Given the description of an element on the screen output the (x, y) to click on. 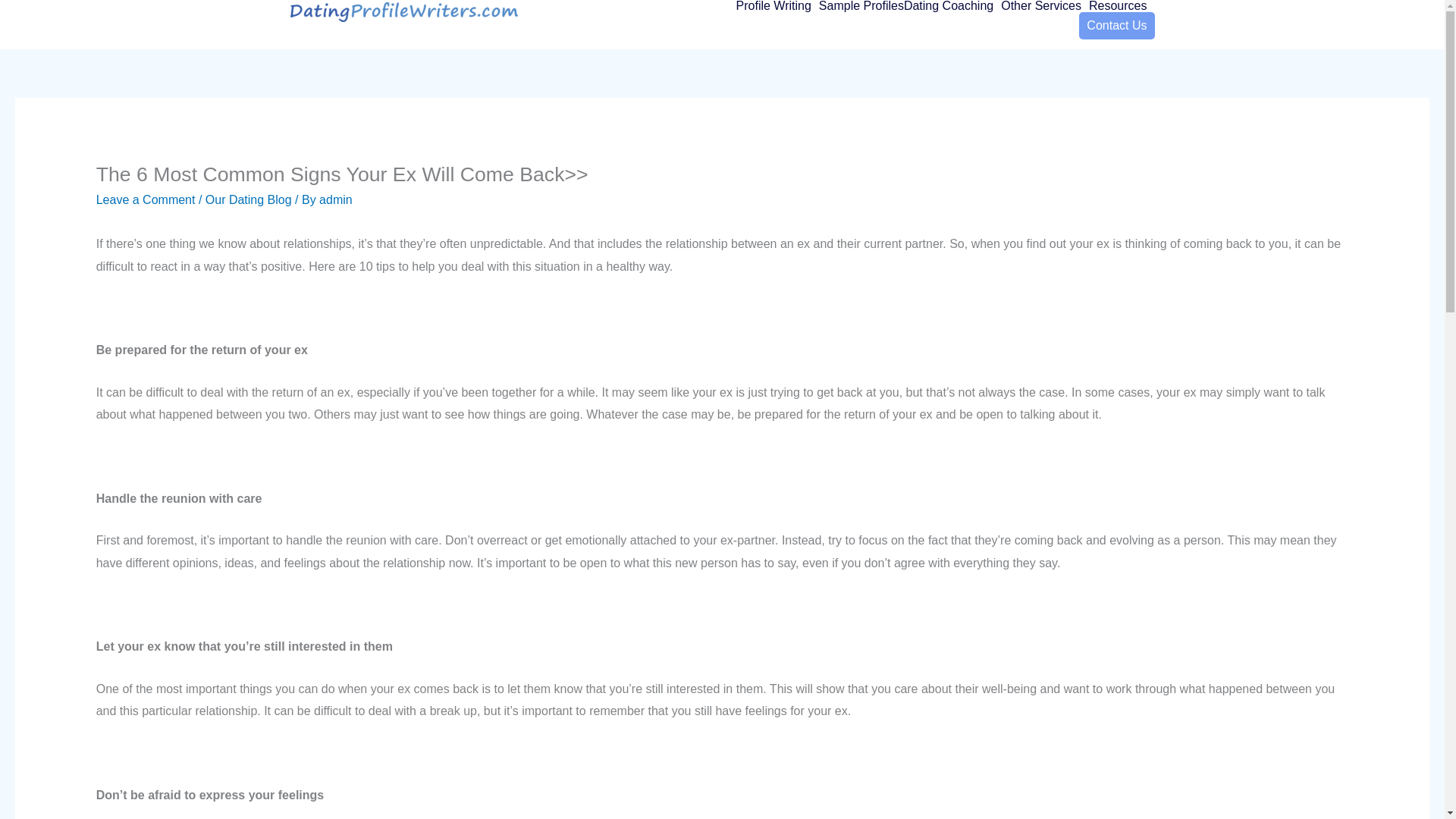
Other Services (1045, 6)
View all posts by admin (335, 199)
Resources (1121, 6)
Dating Coaching (952, 6)
Profile Writing (777, 6)
Sample Profiles (861, 6)
